Given the description of an element on the screen output the (x, y) to click on. 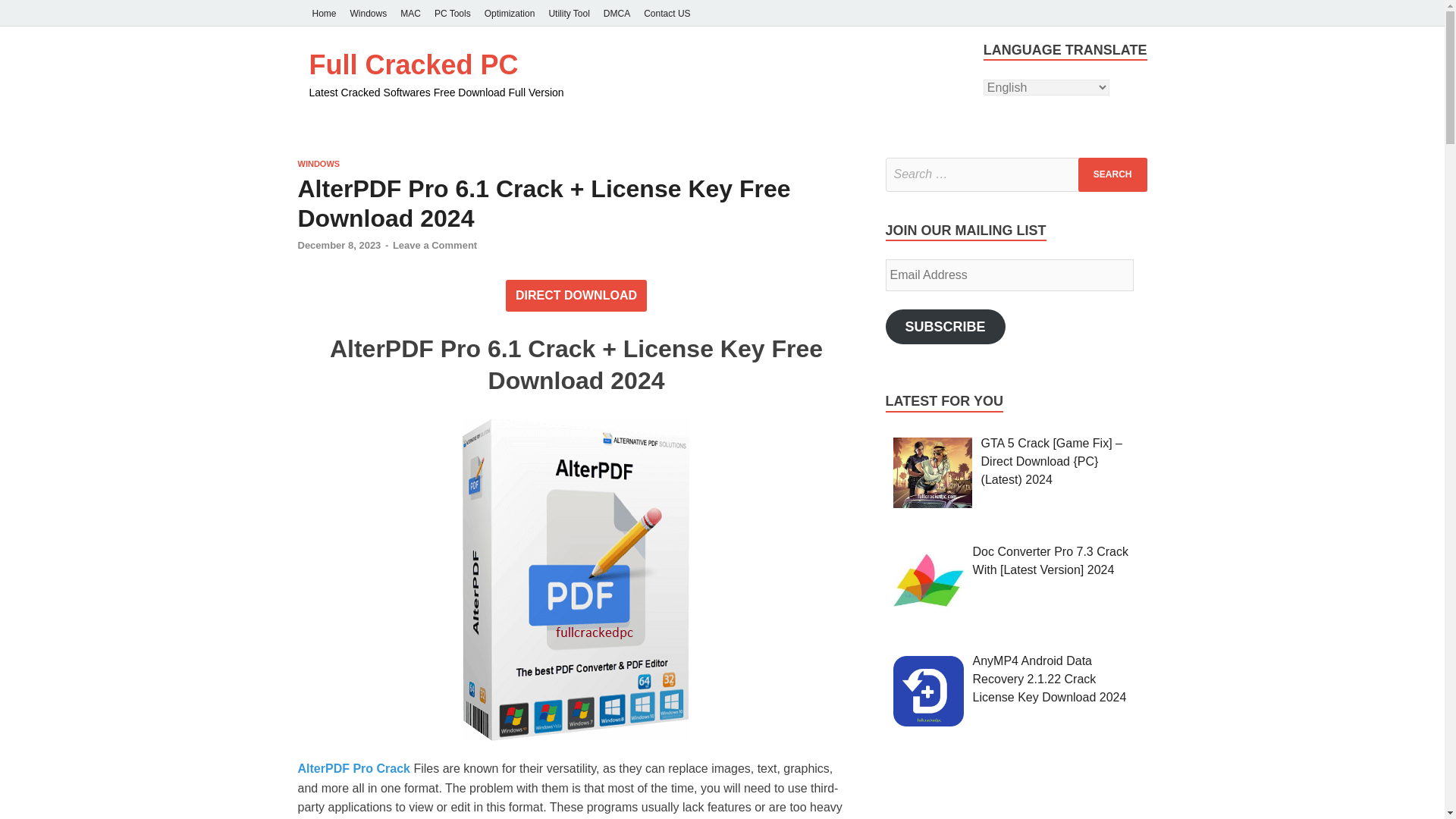
AlterPDF Pro Crack (353, 768)
DMCA (616, 13)
Optimization (509, 13)
DIRECT DOWNLOAD (575, 295)
Home (323, 13)
December 8, 2023 (338, 244)
MAC (410, 13)
Contact US (667, 13)
PC Tools (452, 13)
Search (1112, 174)
